Given the description of an element on the screen output the (x, y) to click on. 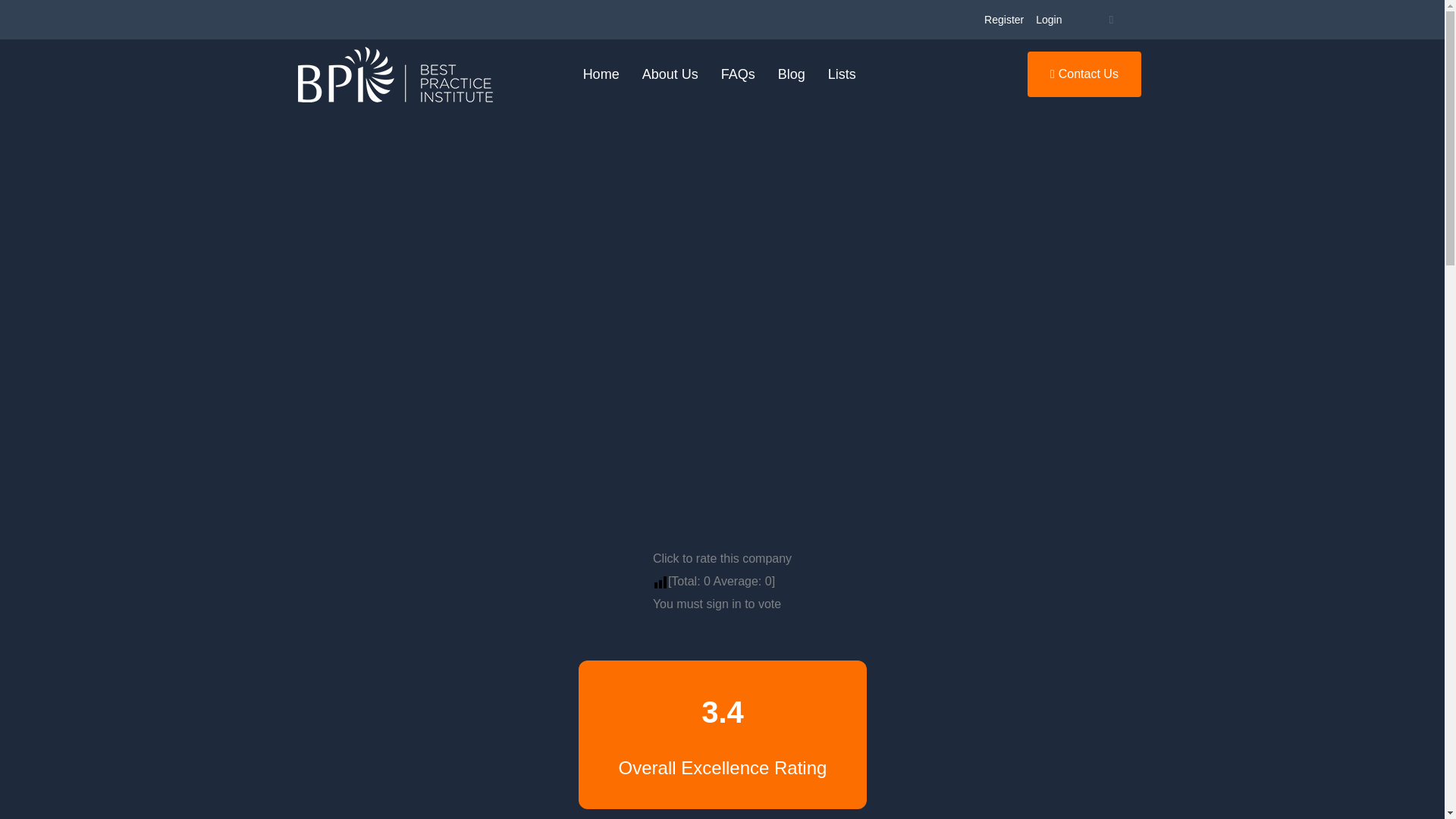
Blog (791, 74)
Home (601, 74)
Contact Us (1084, 74)
Cart (1110, 19)
Register (1003, 19)
Login (1048, 19)
About Us (670, 74)
Lists (841, 74)
FAQs (738, 74)
